Given the description of an element on the screen output the (x, y) to click on. 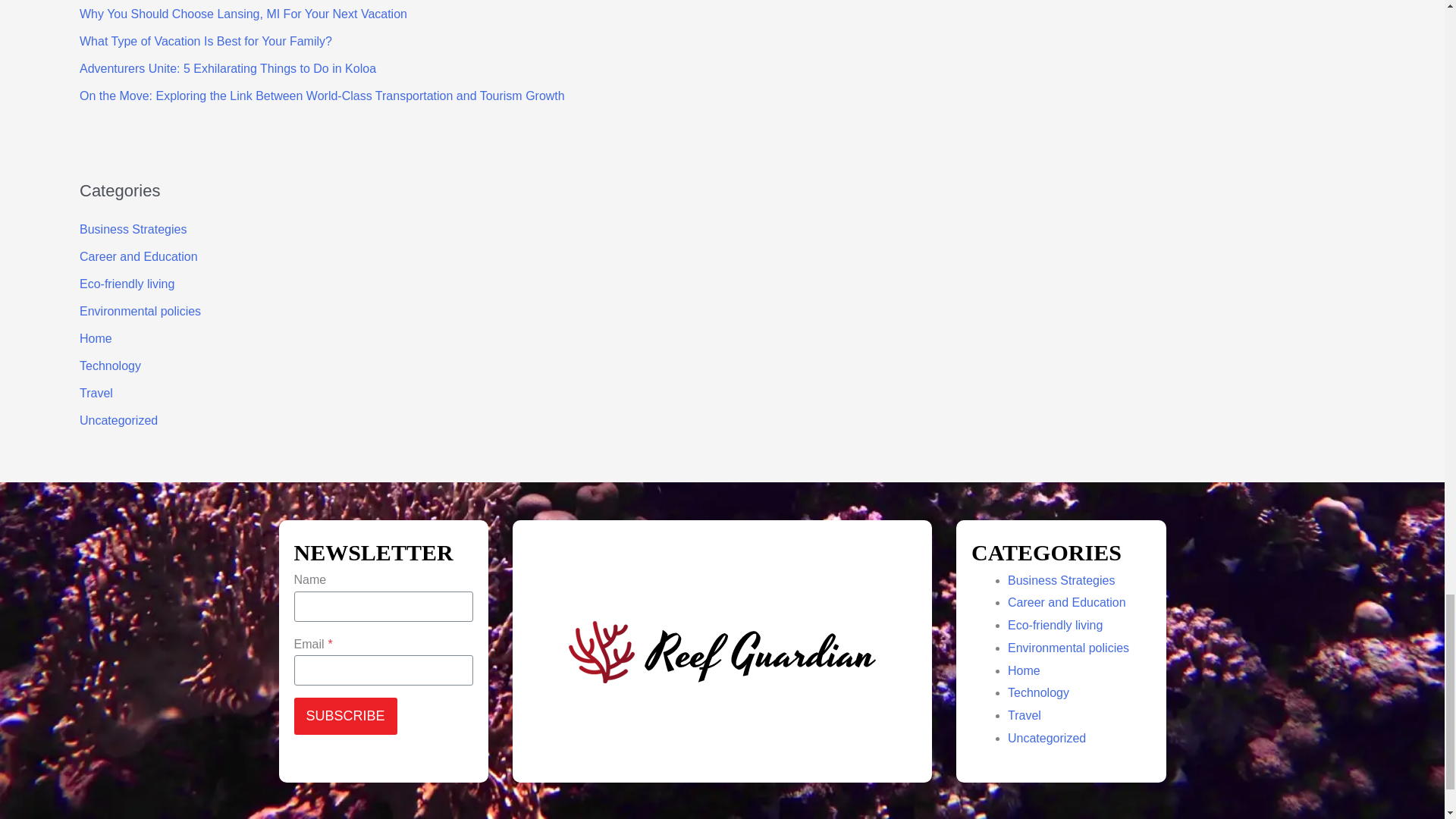
Business Strategies (1061, 580)
Home (96, 338)
Environmental policies (140, 310)
Career and Education (1066, 602)
Career and Education (139, 256)
What Type of Vacation Is Best for Your Family? (205, 41)
Business Strategies (133, 228)
Uncategorized (118, 420)
Travel (96, 392)
Technology (110, 365)
